Given the description of an element on the screen output the (x, y) to click on. 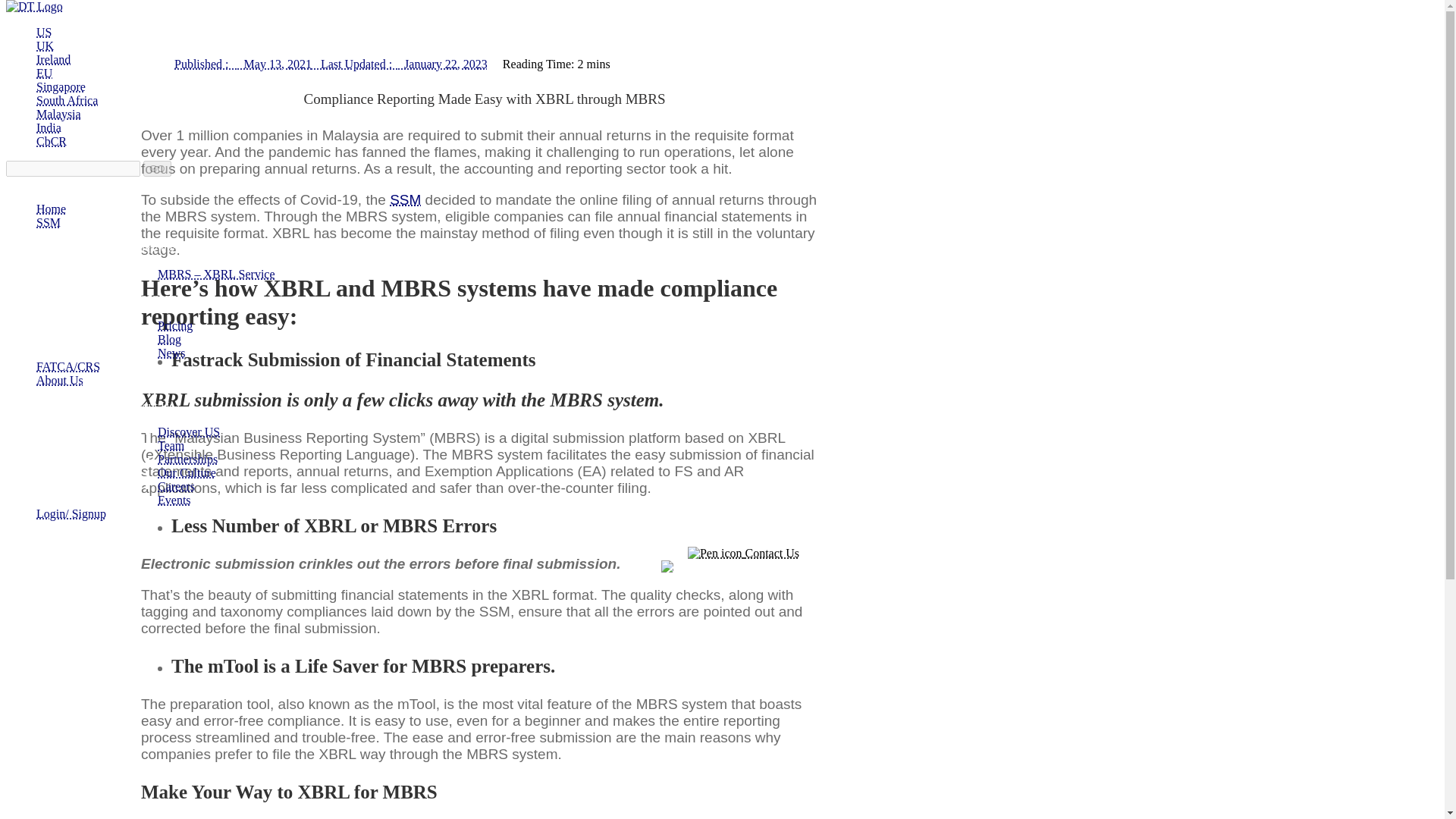
Pricing (174, 325)
CbCR (51, 141)
India (48, 127)
Ireland (52, 59)
Click to call (744, 566)
SSM (405, 199)
Team (170, 445)
Partnerships (186, 459)
Contact Us (743, 553)
Get a Quote (743, 539)
